Given the description of an element on the screen output the (x, y) to click on. 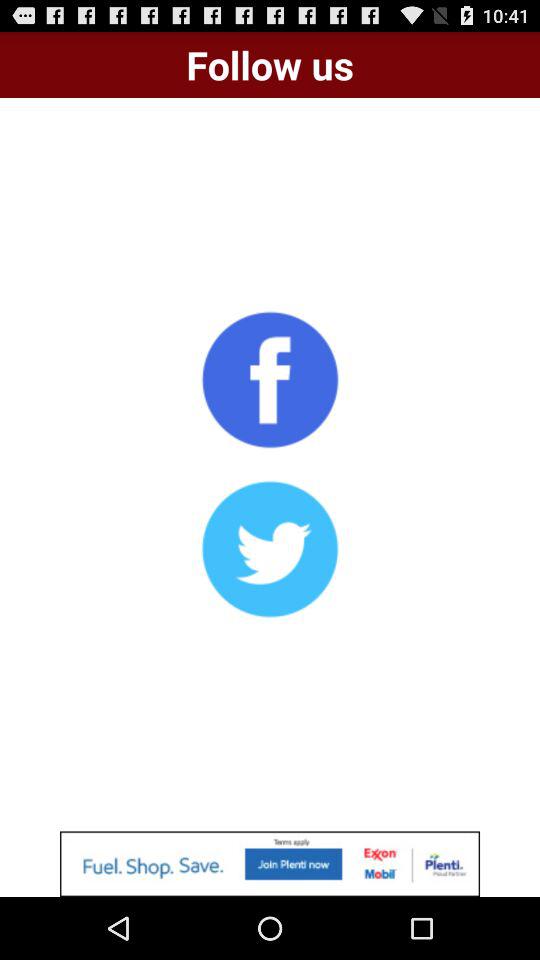
click to twitter (270, 549)
